Given the description of an element on the screen output the (x, y) to click on. 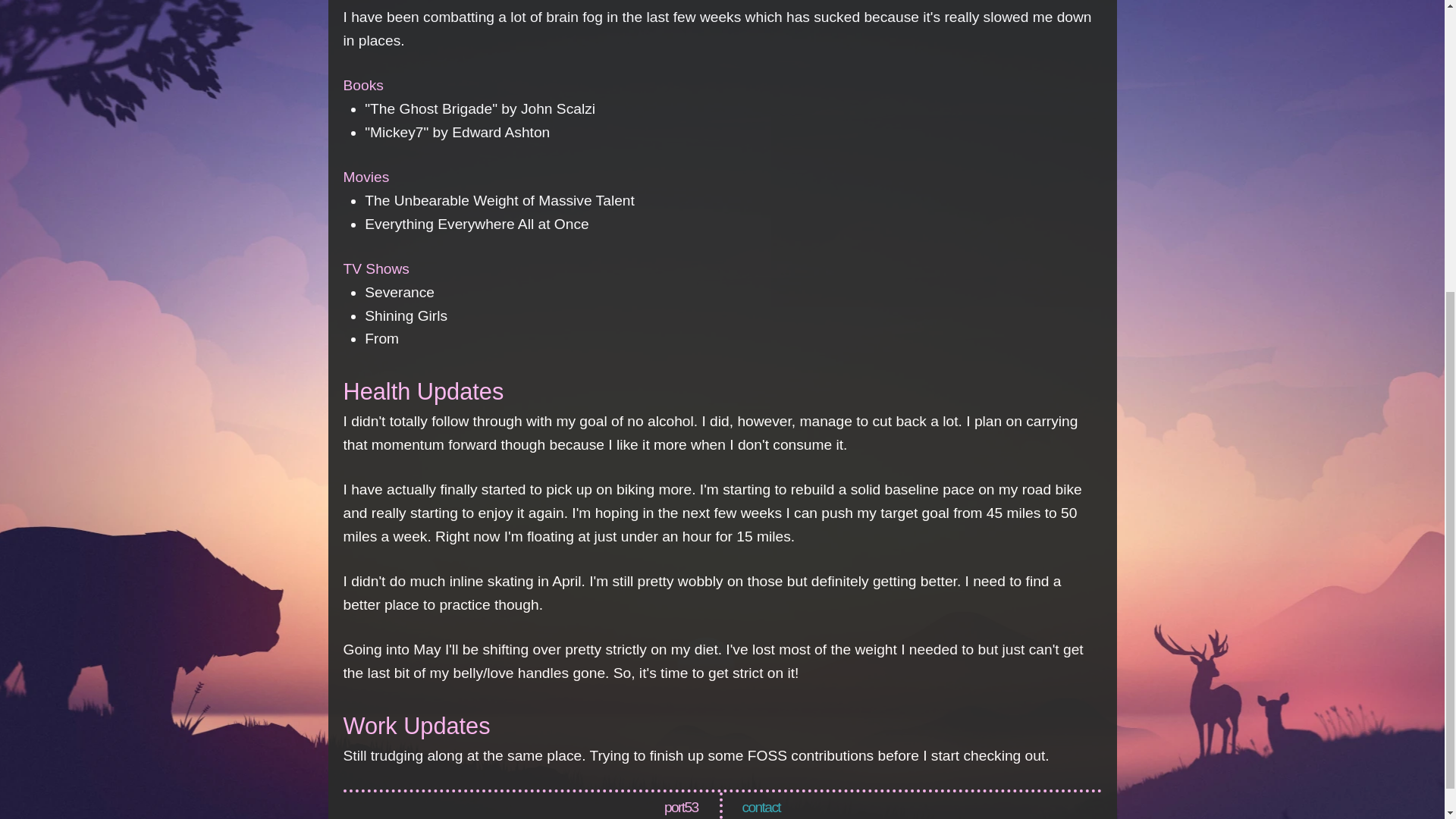
contact (760, 806)
